Given the description of an element on the screen output the (x, y) to click on. 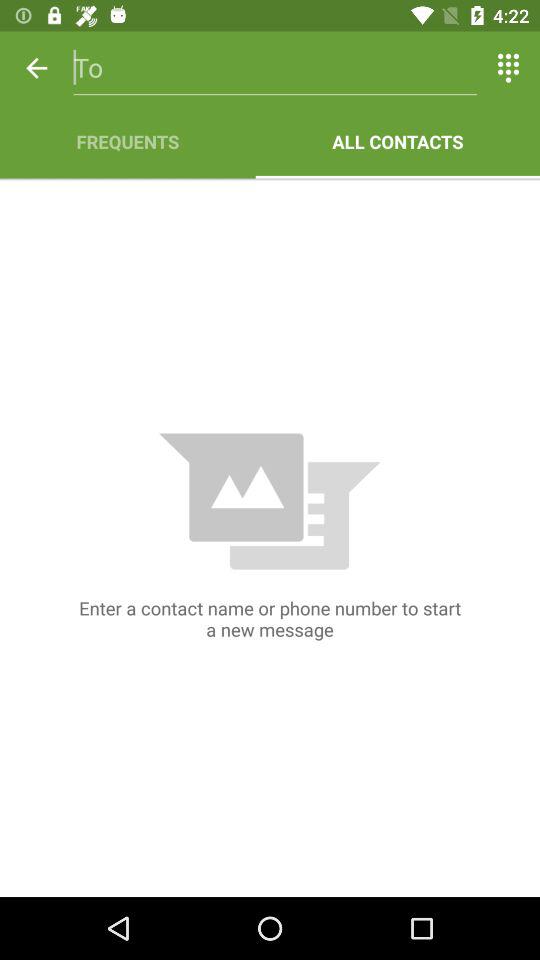
flip until the all contacts item (397, 141)
